Given the description of an element on the screen output the (x, y) to click on. 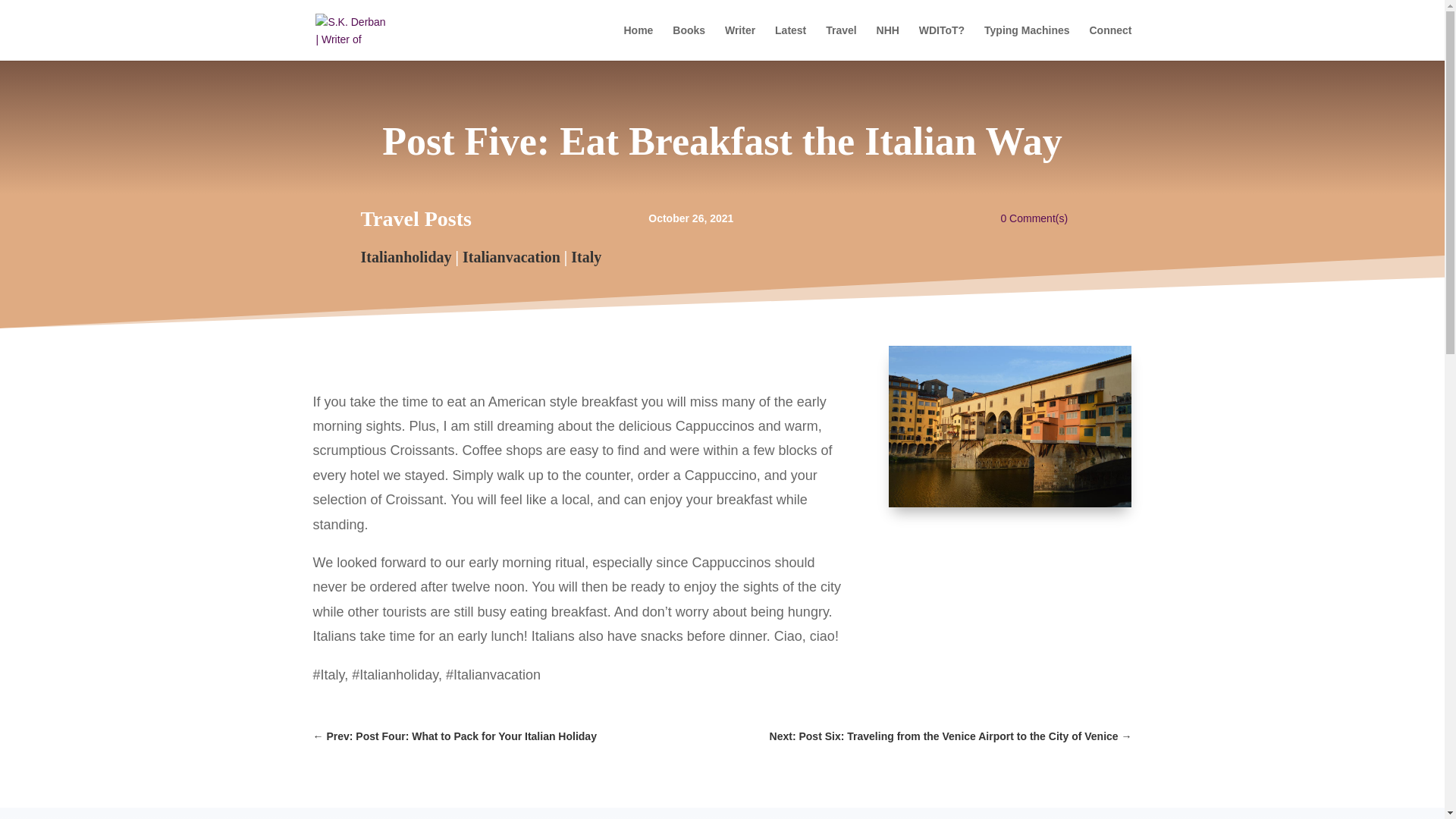
WDIToT? (940, 42)
Italianholiday (406, 256)
211026-blog-Travel-Italy-Post-5 (1009, 425)
Italy (585, 256)
Italianvacation (511, 256)
Books (688, 42)
Connect (1110, 42)
Typing Machines (1027, 42)
